Given the description of an element on the screen output the (x, y) to click on. 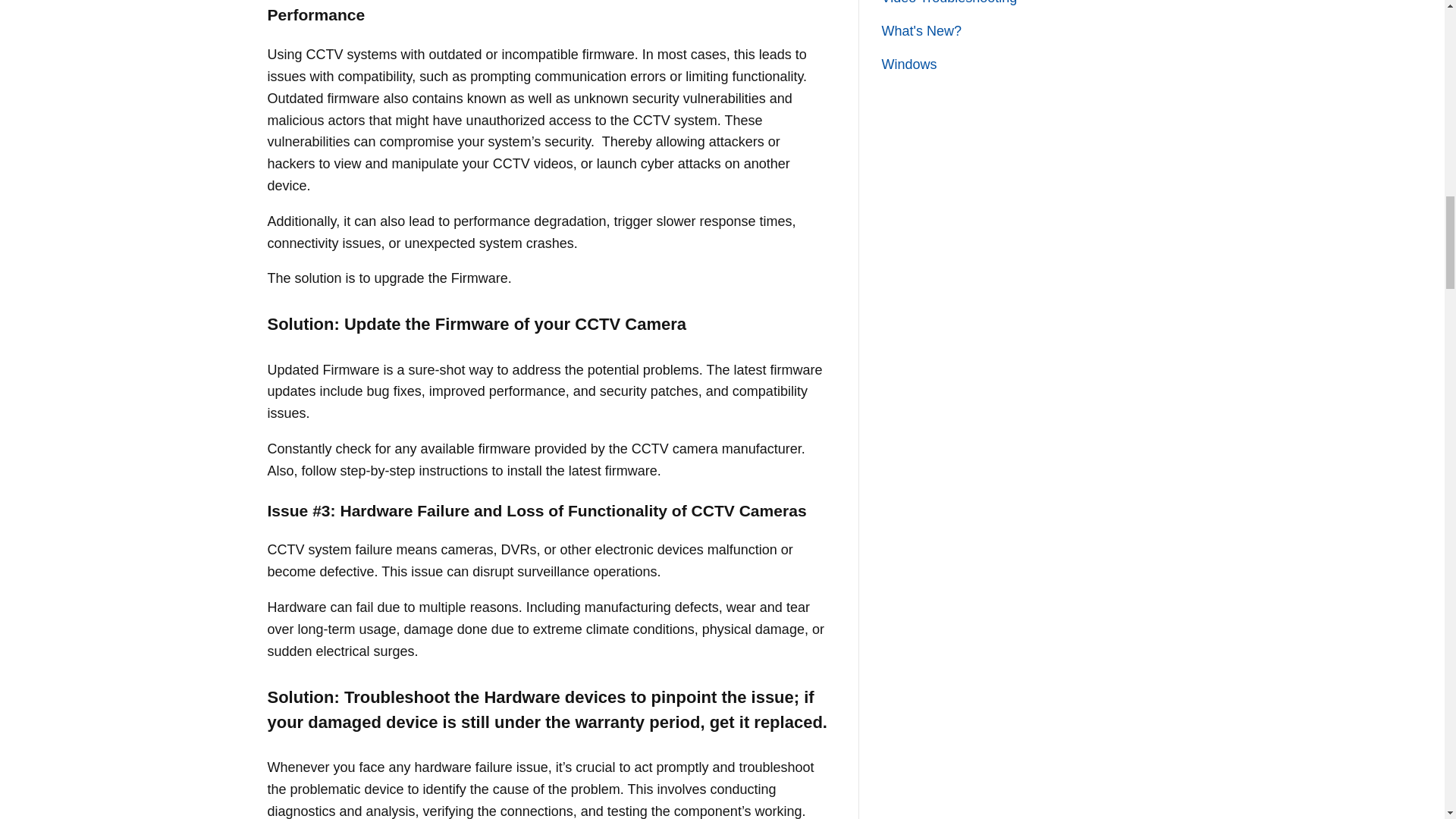
Video Troubleshooting (948, 2)
What's New? (920, 30)
Windows (908, 64)
